Given the description of an element on the screen output the (x, y) to click on. 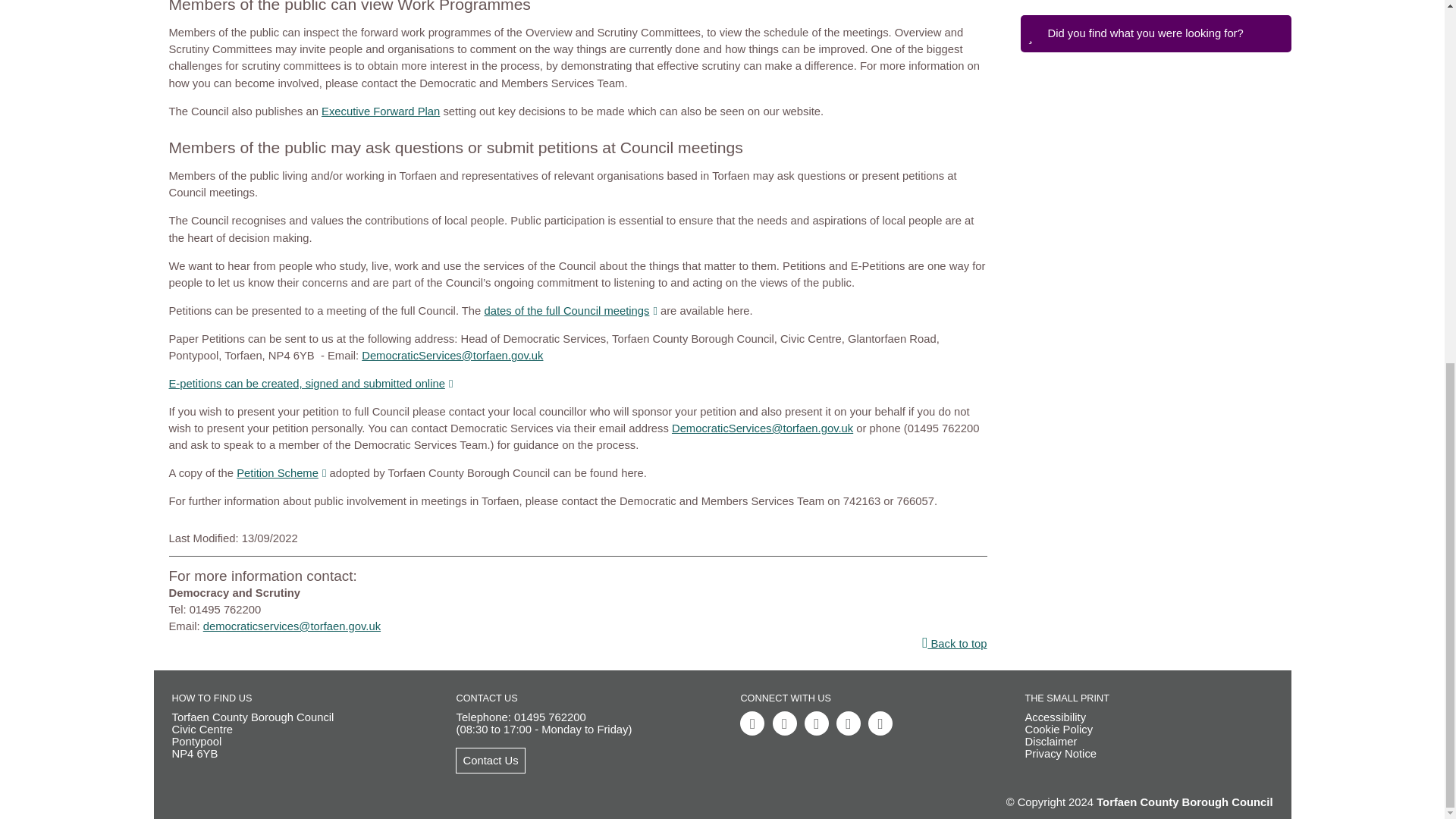
Executive Forward Plan (380, 111)
Petition Scheme (280, 472)
E-petitions can be created, signed and submitted online (310, 383)
Back to top (577, 642)
dates of the full Council meetings (569, 310)
